Given the description of an element on the screen output the (x, y) to click on. 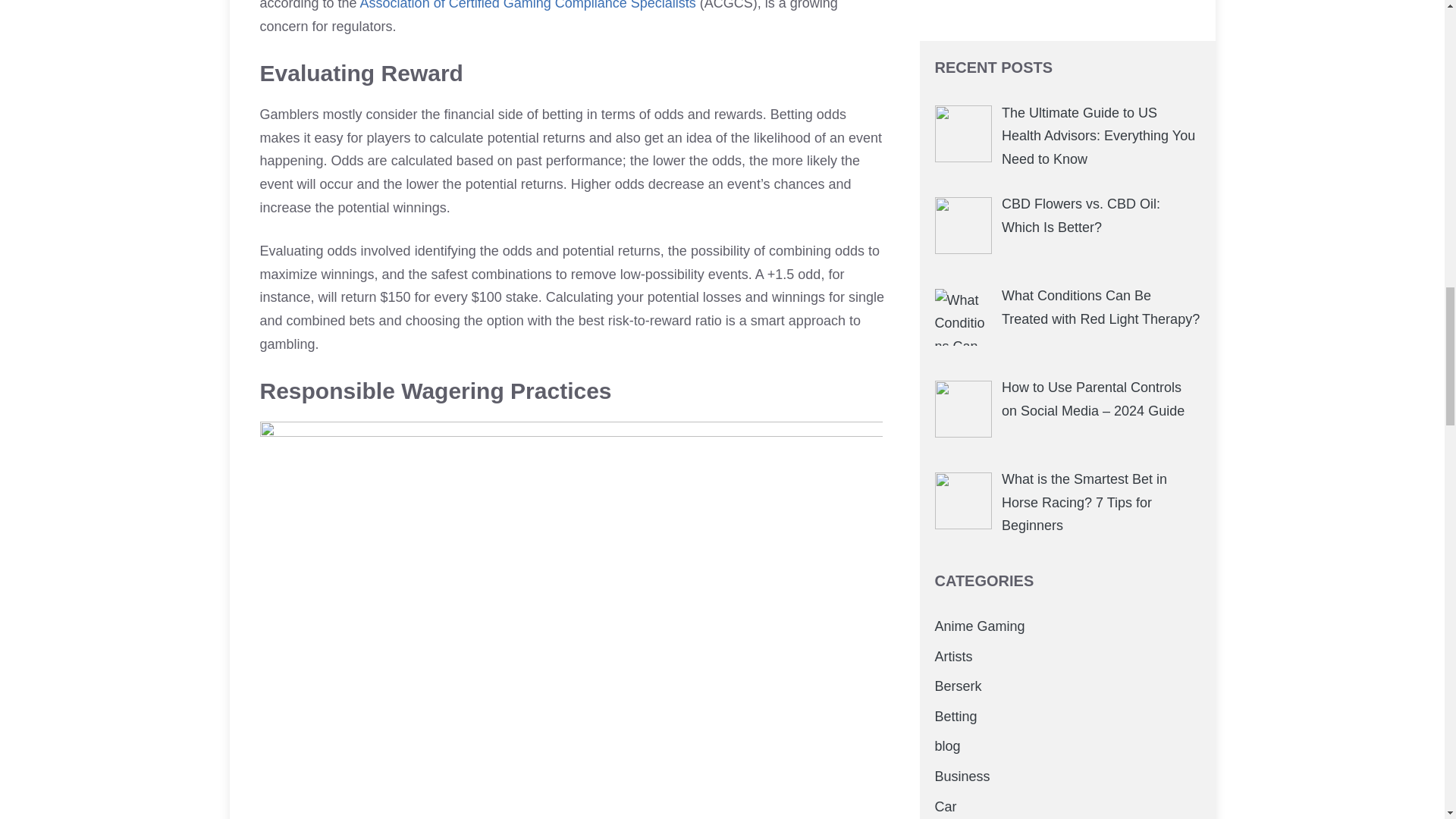
Association of Certified Gaming Compliance Specialists (527, 5)
